Given the description of an element on the screen output the (x, y) to click on. 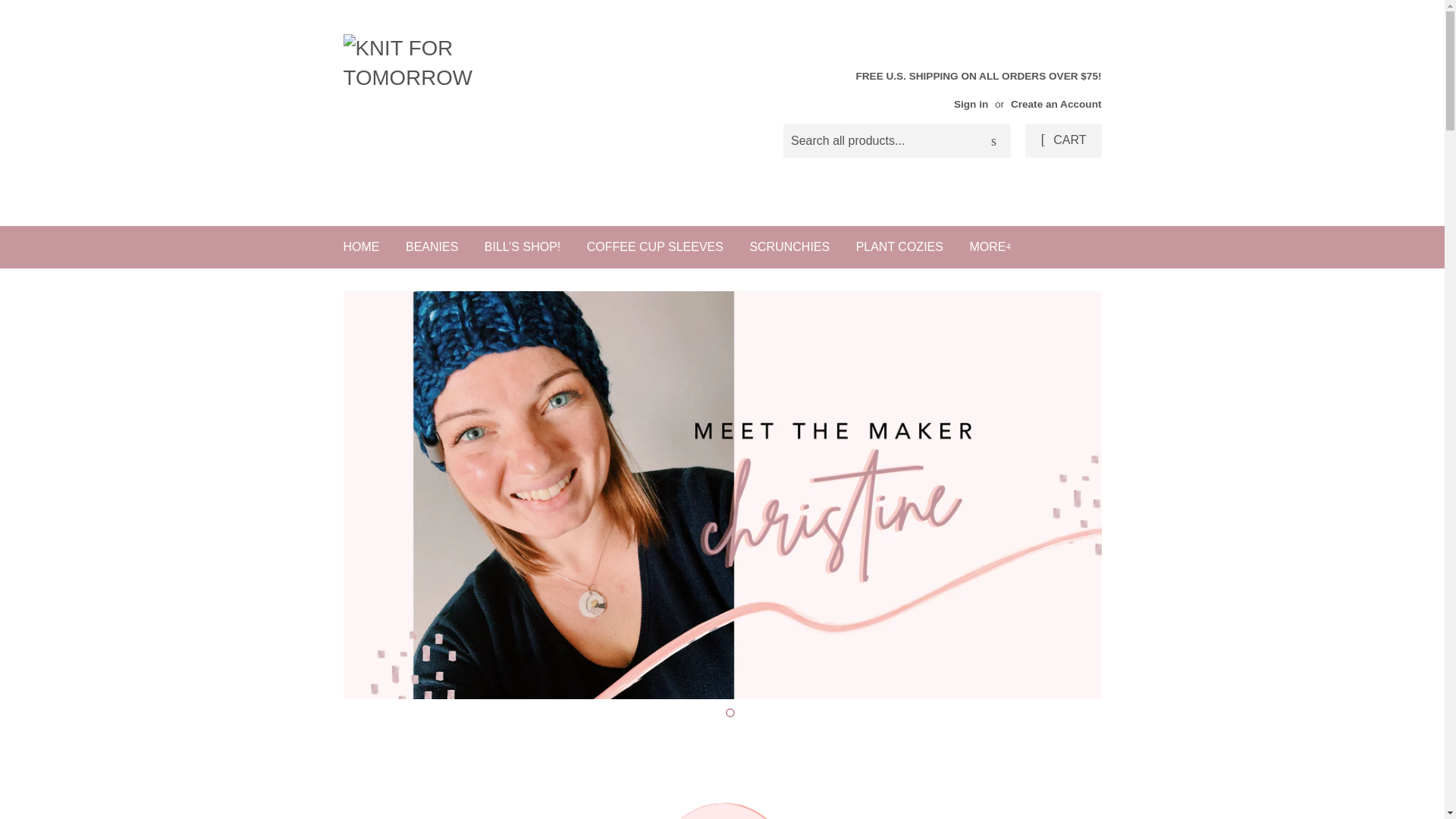
BEANIES (431, 247)
CART (1062, 141)
HOME (361, 247)
SCRUNCHIES (789, 247)
Search (993, 142)
PLANT COZIES (899, 247)
MORE (990, 247)
Create an Account (1056, 103)
COFFEE CUP SLEEVES (655, 247)
Sign in (970, 103)
